Given the description of an element on the screen output the (x, y) to click on. 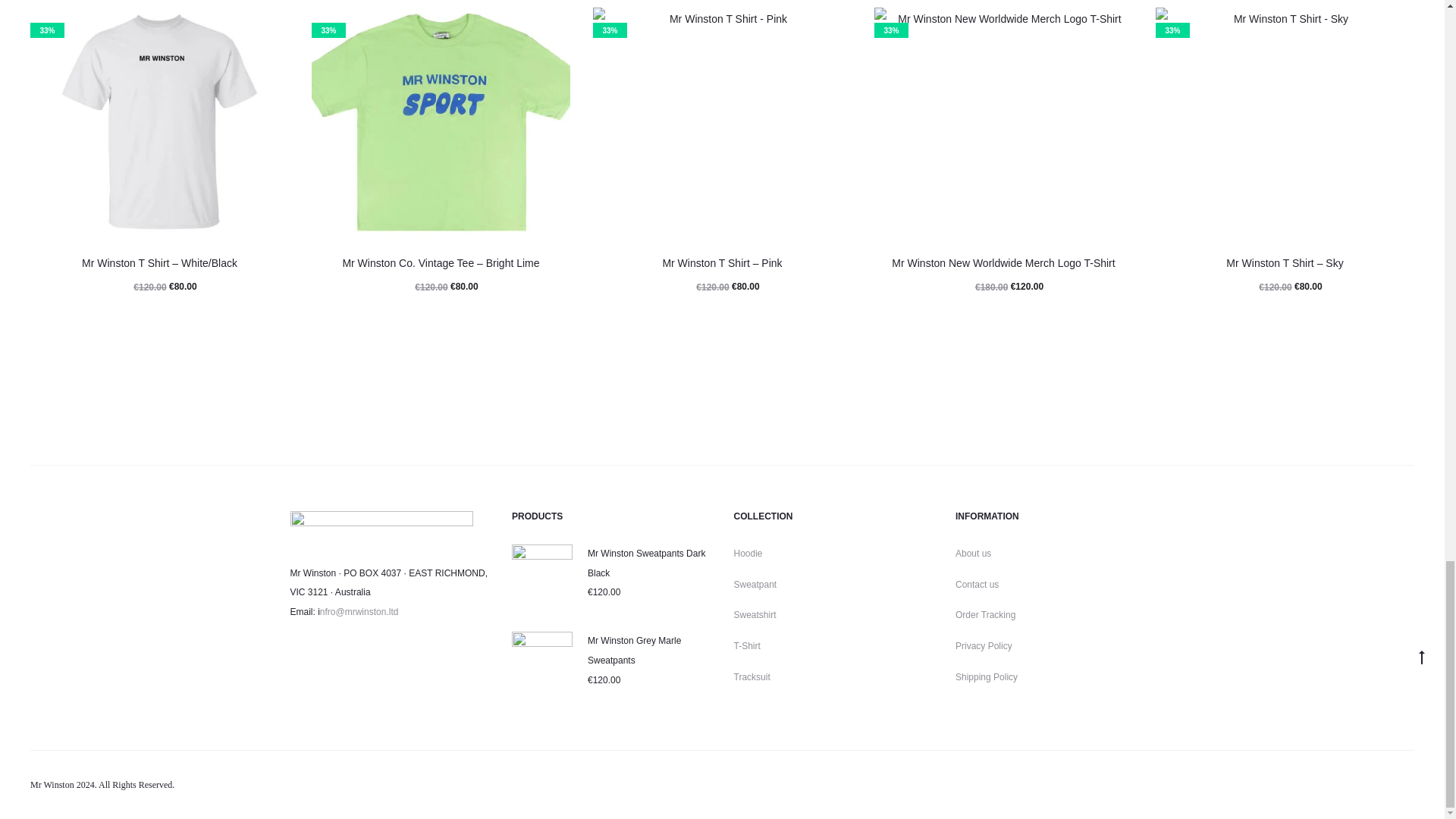
Mr Winston New Worldwide Merch Logo T-Shirt (1003, 263)
